Given the description of an element on the screen output the (x, y) to click on. 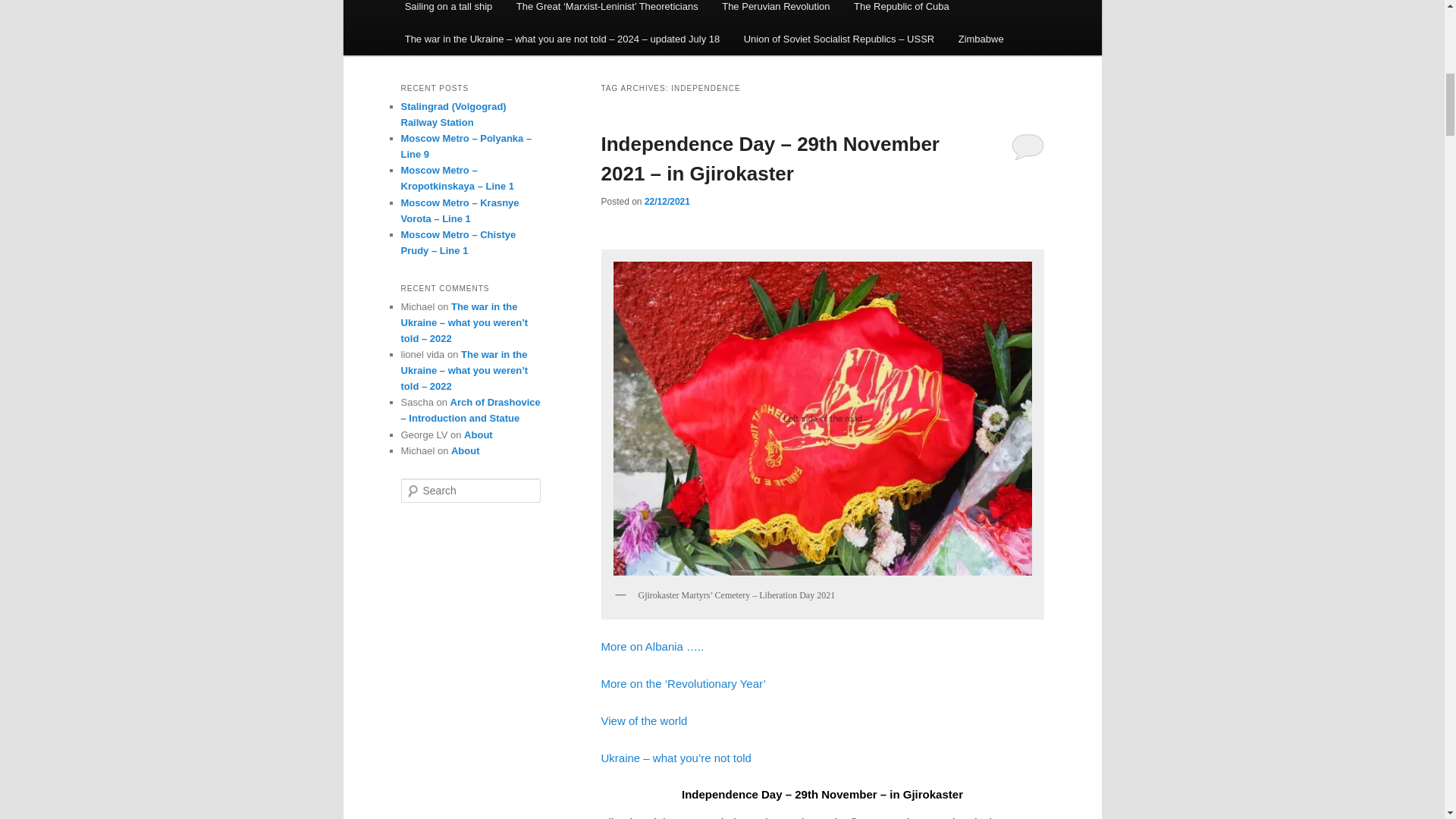
View of the world (643, 720)
Sailing on a tall ship (448, 11)
Zimbabwe (980, 38)
The Republic of Cuba (900, 11)
The Peruvian Revolution (775, 11)
